Given the description of an element on the screen output the (x, y) to click on. 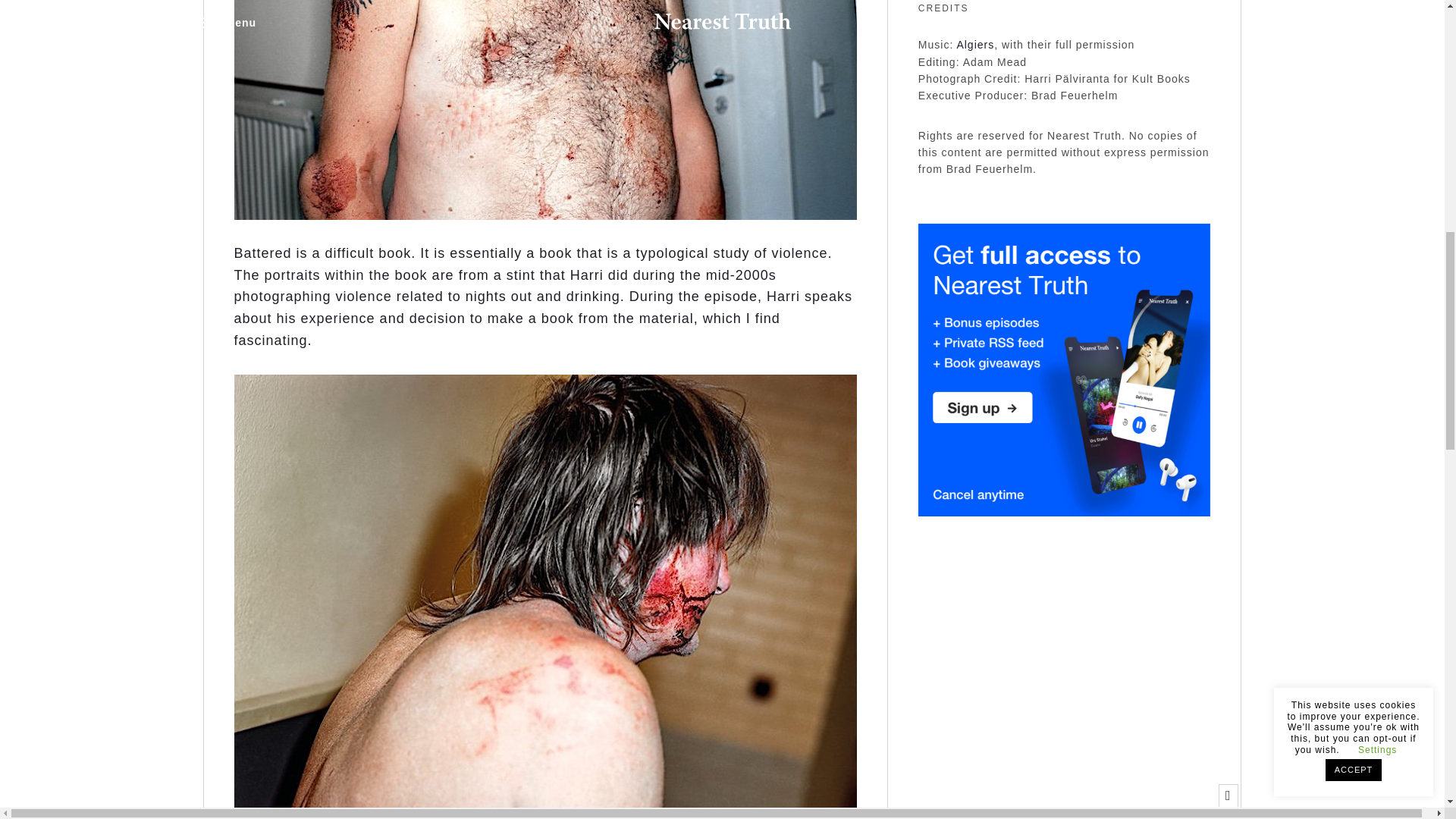
Algiers (975, 44)
